Given the description of an element on the screen output the (x, y) to click on. 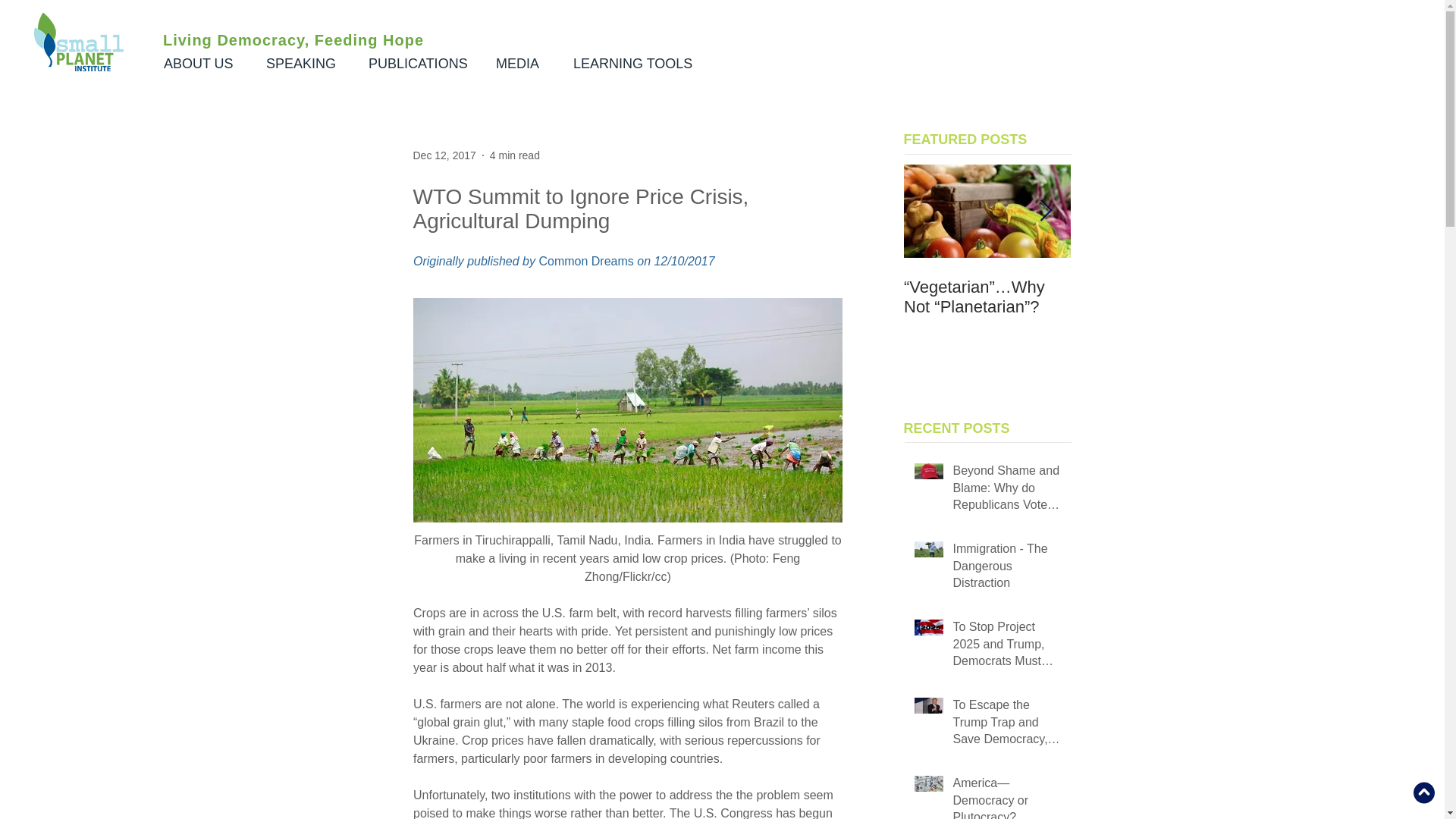
Dec 12, 2017 (444, 154)
Common Dreams (585, 260)
4 min read (514, 154)
Originally published by  (474, 260)
Immigration - The Dangerous Distraction (1006, 568)
